Given the description of an element on the screen output the (x, y) to click on. 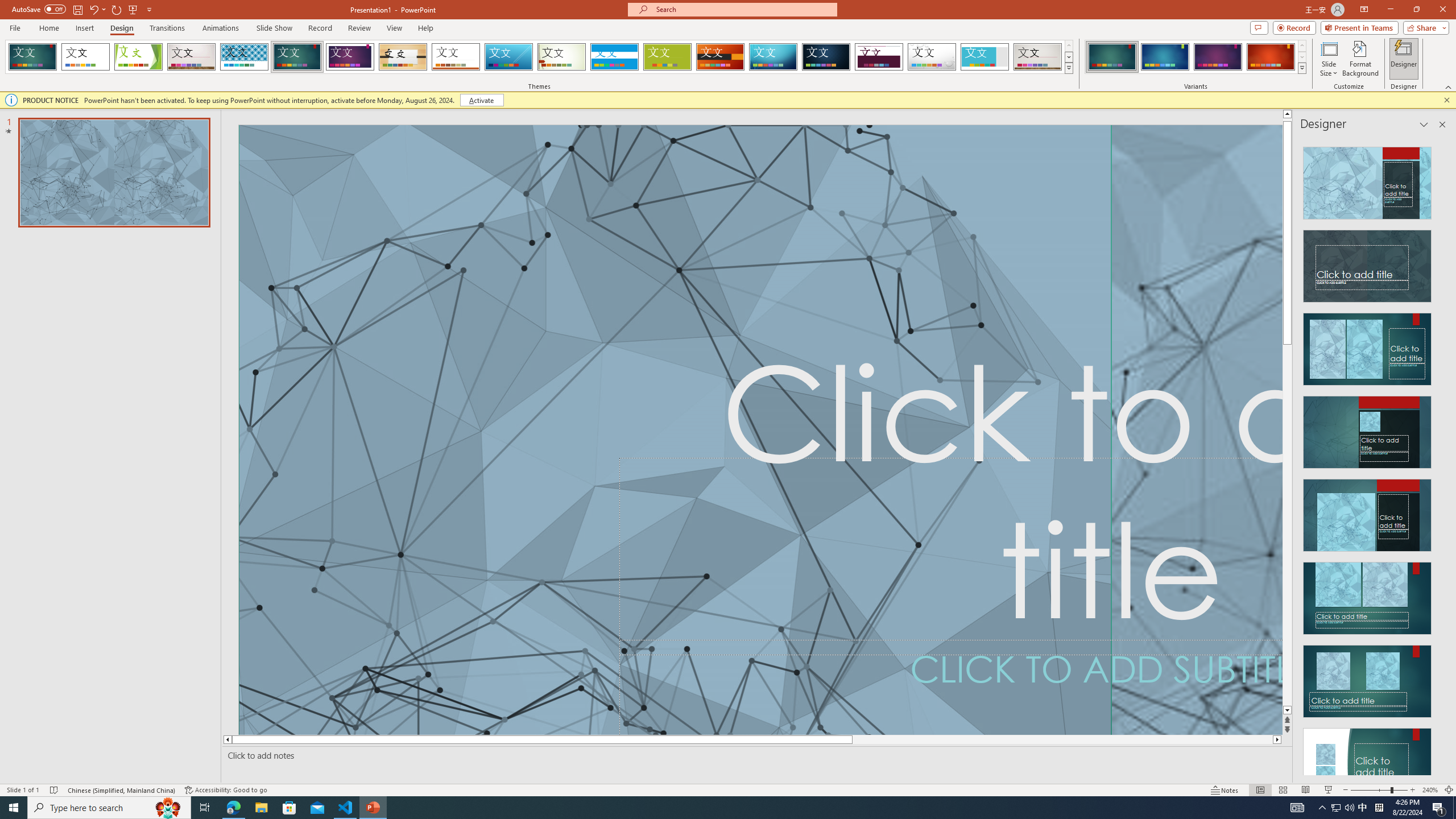
Help (425, 28)
Subtitle TextBox (950, 686)
Slice (508, 56)
Facet (138, 56)
Quick Access Toolbar (82, 9)
Office Theme (85, 56)
Microsoft search (742, 9)
Share (1423, 27)
Designer (1403, 58)
Transitions (167, 28)
Restore Down (1416, 9)
Class: NetUIImage (1302, 68)
Ribbon Display Options (1364, 9)
